Given the description of an element on the screen output the (x, y) to click on. 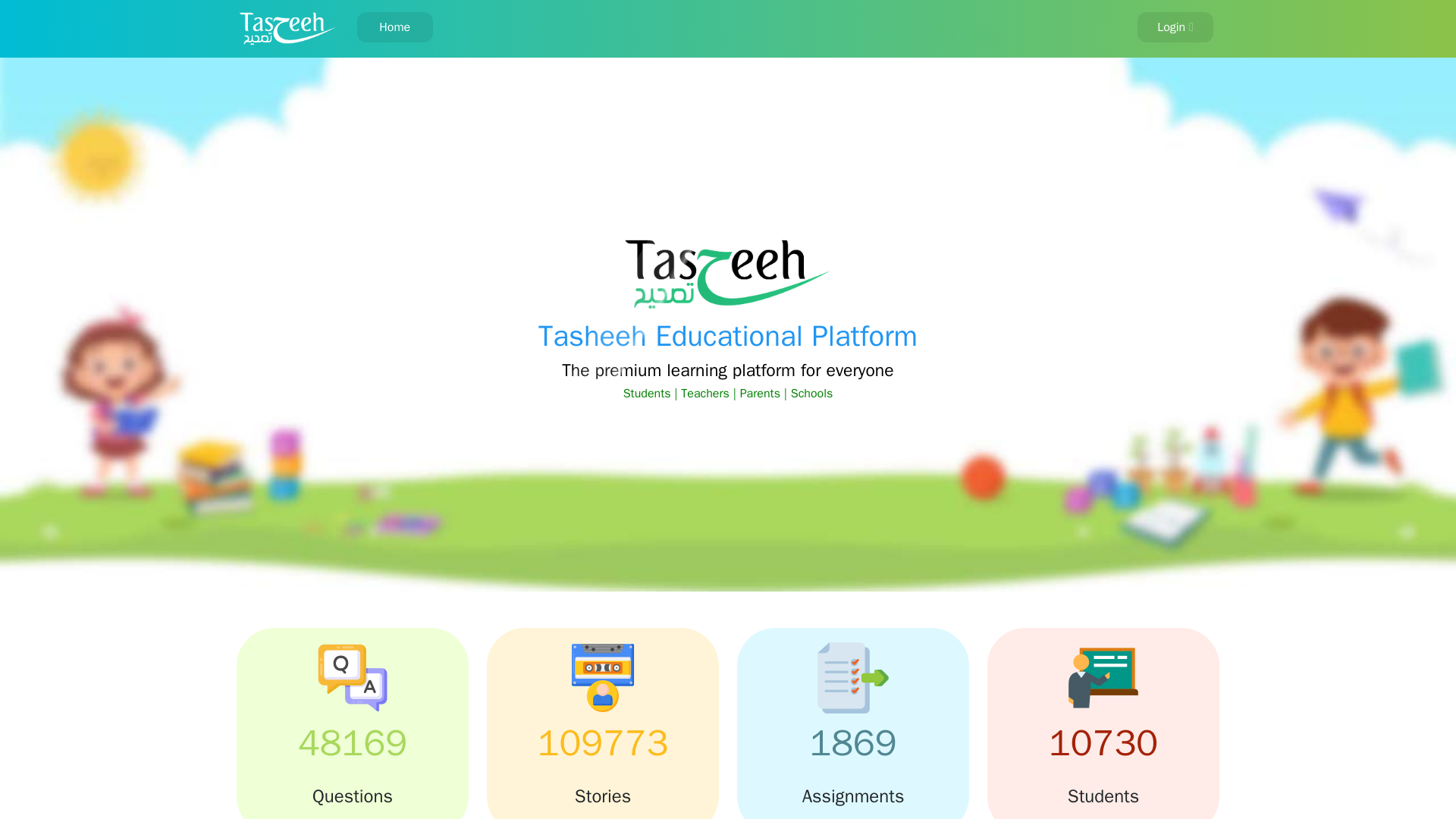
Home (394, 27)
Login (1174, 27)
